Given the description of an element on the screen output the (x, y) to click on. 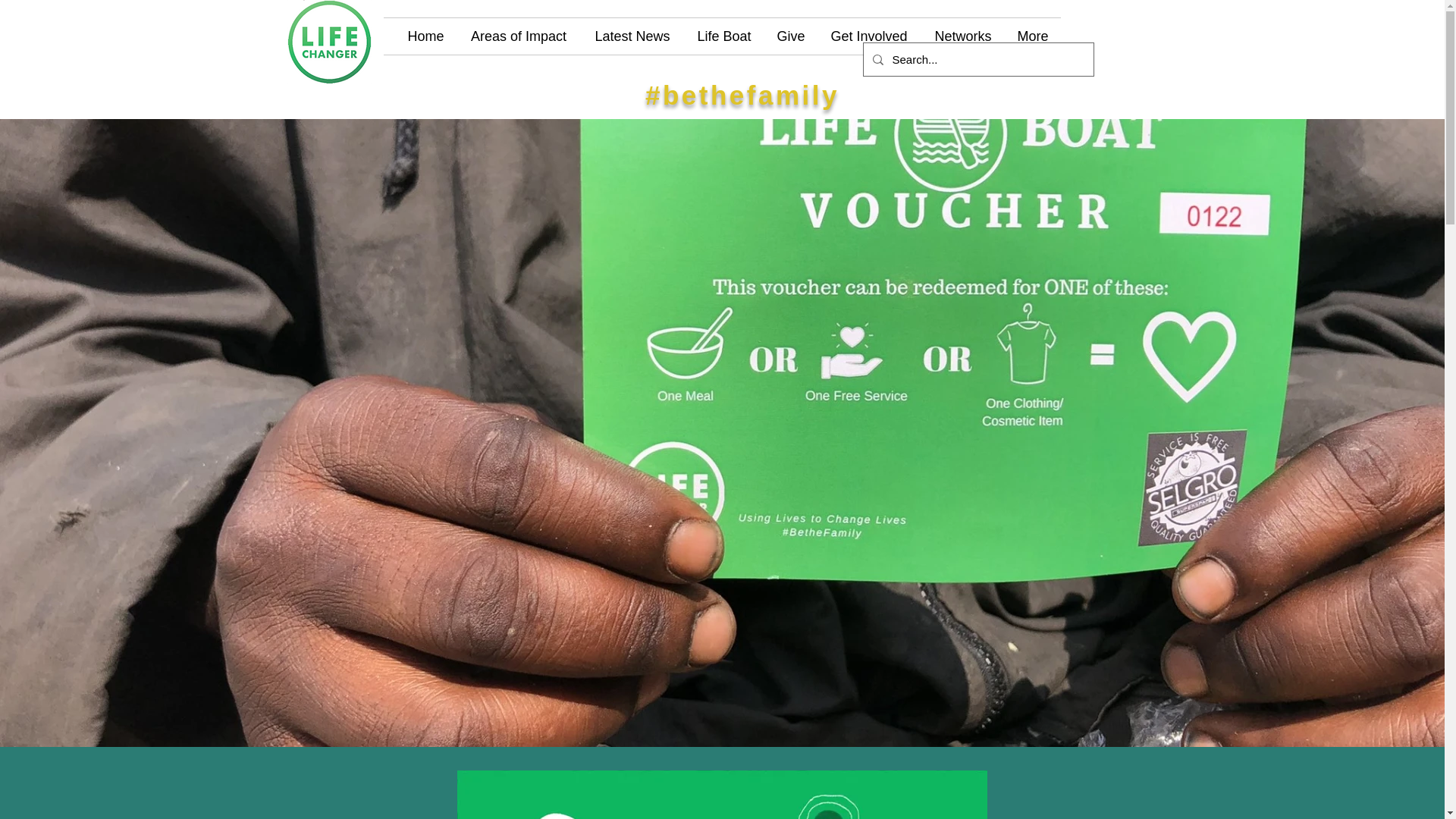
Give (790, 36)
Networks (962, 36)
Get Involved (868, 36)
Life Boat (724, 36)
Areas of Impact (518, 36)
Latest News (631, 36)
Home (426, 36)
